Given the description of an element on the screen output the (x, y) to click on. 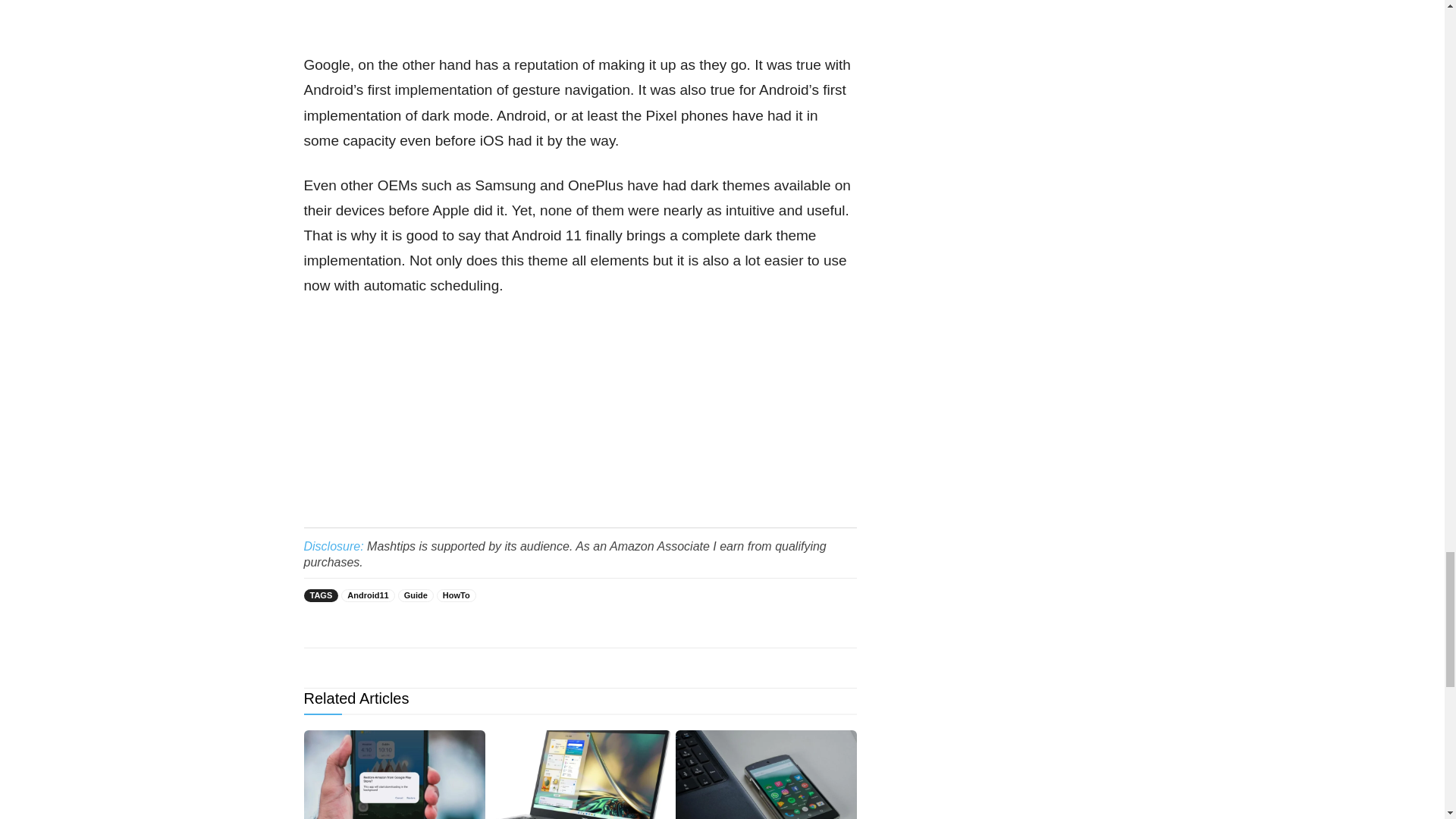
Guide (415, 594)
Disclosure: (332, 545)
Android11 (367, 594)
